Given the description of an element on the screen output the (x, y) to click on. 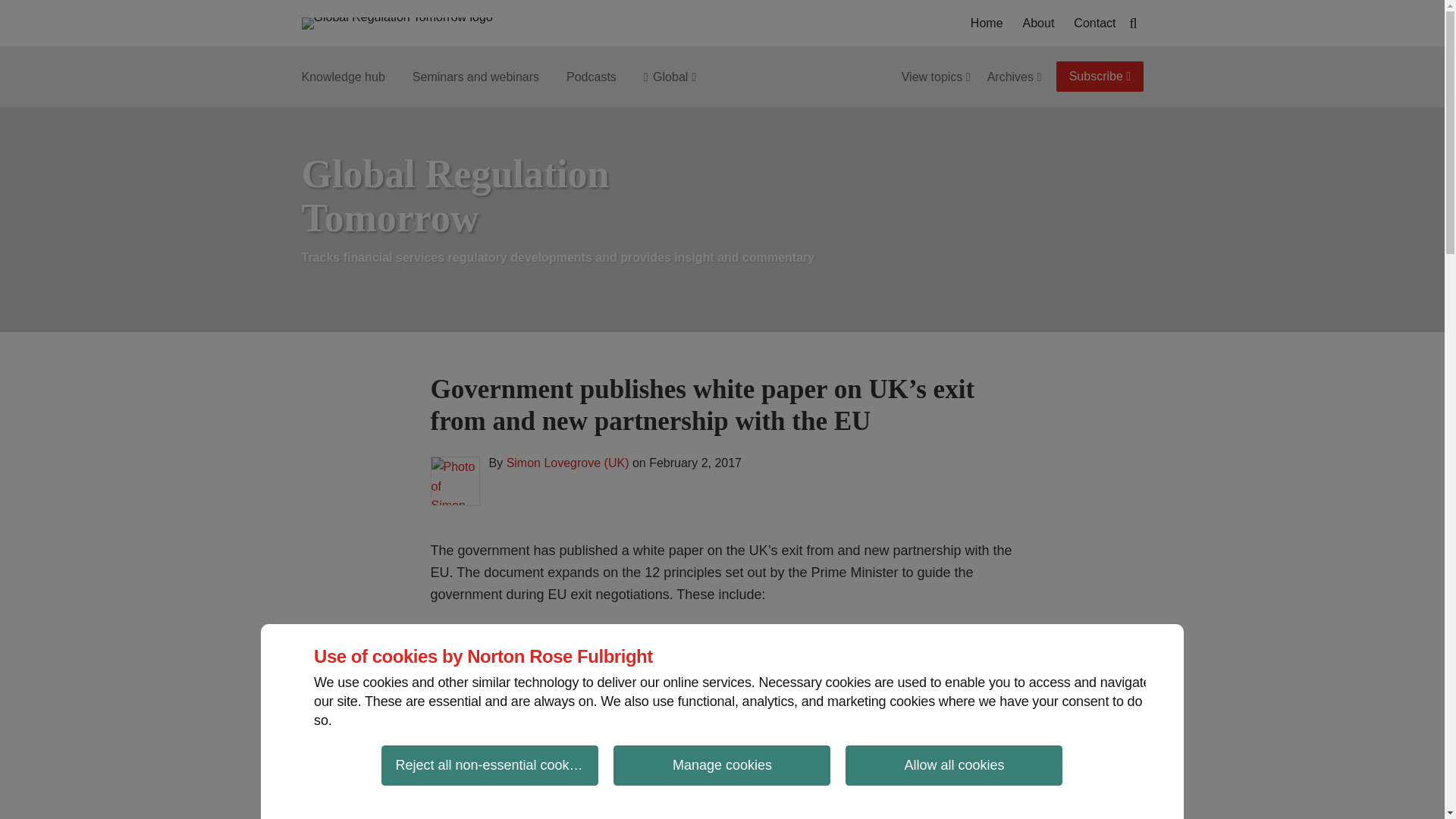
Reject all non-essential cookies (489, 765)
Manage cookies (720, 765)
Knowledge hub (343, 76)
Seminars and webinars (475, 76)
Allow all cookies (953, 765)
Home (987, 23)
Contact (1094, 23)
About (1038, 23)
Podcasts (590, 76)
